Given the description of an element on the screen output the (x, y) to click on. 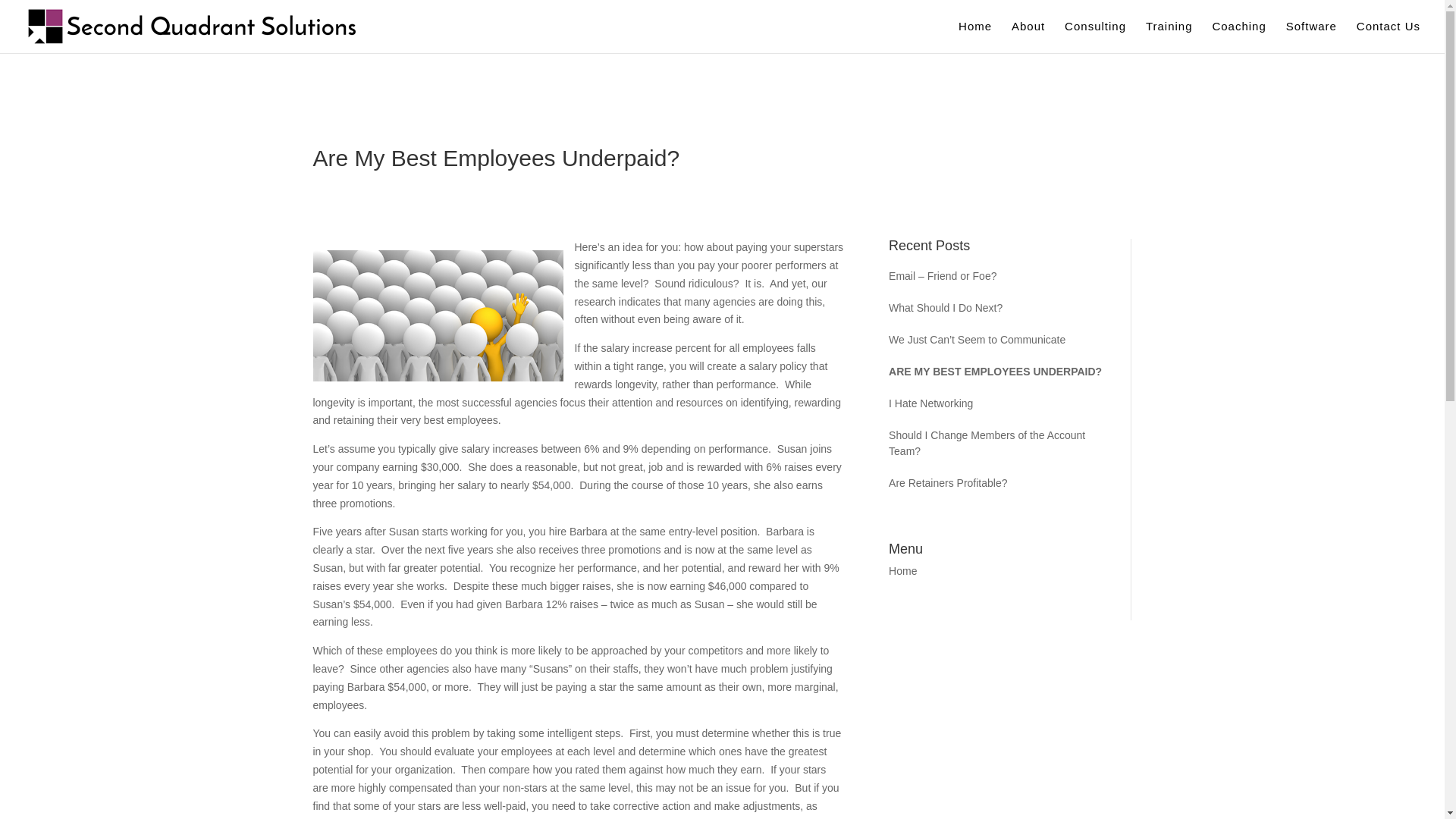
Should I Change Members of the Account Team? (998, 443)
Consulting (1094, 36)
Are Retainers Profitable? (998, 483)
I Hate Networking (998, 403)
What Should I Do Next? (998, 308)
Home (974, 36)
ARE MY BEST EMPLOYEES UNDERPAID? (998, 371)
Software (1310, 36)
About (1028, 36)
Contact Us (1388, 36)
